Given the description of an element on the screen output the (x, y) to click on. 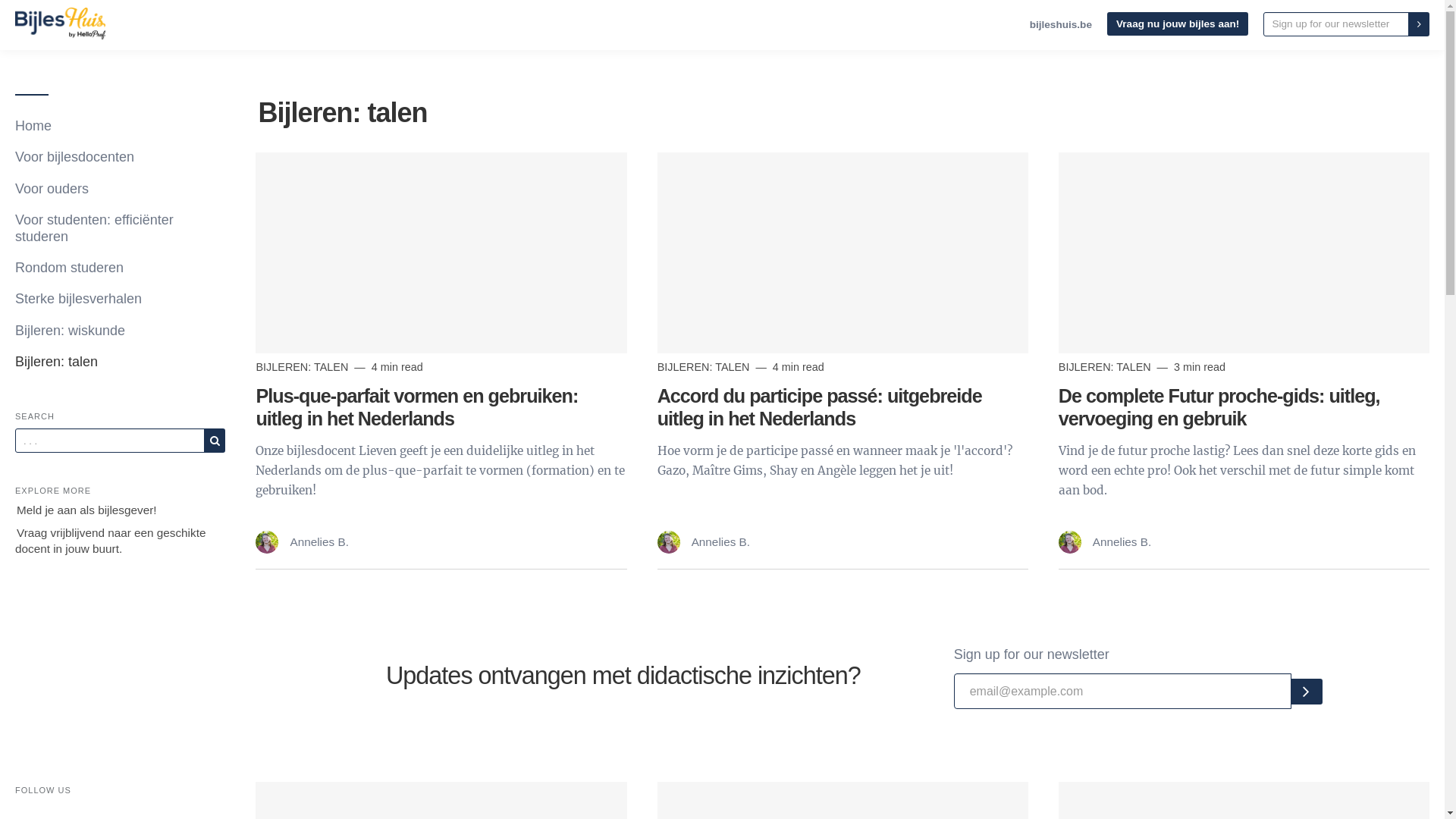
BIJLEREN: TALEN Element type: text (705, 366)
Home Element type: text (120, 125)
De complete Futur proche-gids: uitleg, vervoeging en gebruik Element type: text (1219, 407)
Annelies B. Element type: text (301, 541)
Annelies B. Element type: text (1104, 541)
Vraag vrijblijvend naar een geschikte docent in jouw buurt. Element type: text (110, 540)
Rondom studeren Element type: text (120, 267)
Bijleren: wiskunde Element type: text (120, 330)
Sterke bijlesverhalen Element type: text (120, 298)
bijleshuis.be Element type: text (1060, 24)
BijlesHuis - Individueel leren Element type: hover (60, 23)
BIJLEREN: TALEN Element type: text (1106, 366)
Annelies B. Element type: text (703, 541)
BIJLEREN: TALEN Element type: text (303, 366)
Meld je aan als bijlesgever! Element type: text (86, 509)
Voor bijlesdocenten Element type: text (120, 156)
Vraag nu jouw bijles aan! Element type: text (1177, 23)
Voor ouders Element type: text (120, 188)
Bijleren: talen Element type: text (120, 361)
